Given the description of an element on the screen output the (x, y) to click on. 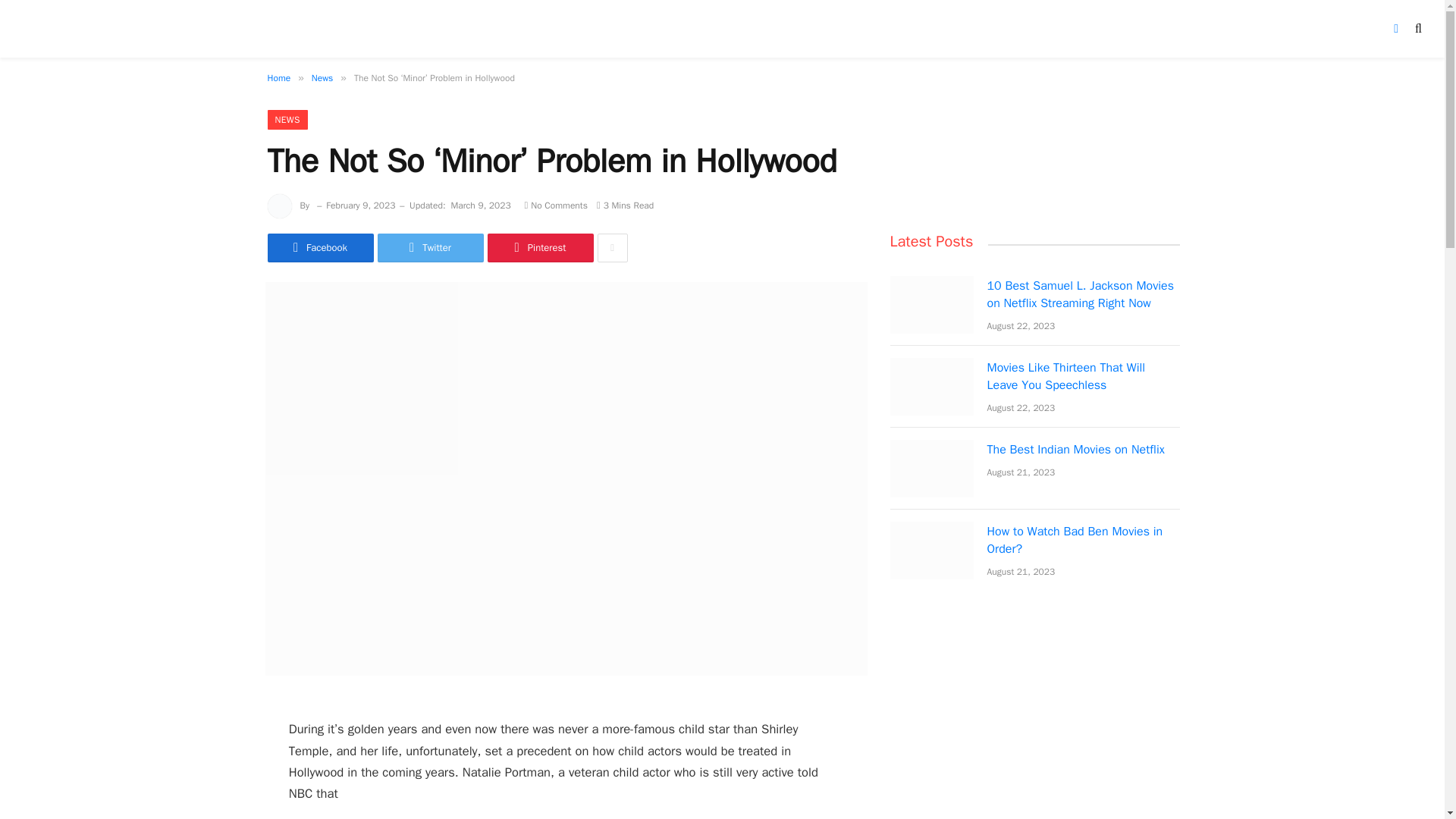
News (322, 78)
Facebook (319, 247)
Twitter (430, 247)
NEWS (286, 119)
Home (277, 78)
Pinterest (539, 247)
No Comments (556, 205)
Switch to Dark Design - easier on eyes. (1396, 28)
Share on Facebook (319, 247)
